Given the description of an element on the screen output the (x, y) to click on. 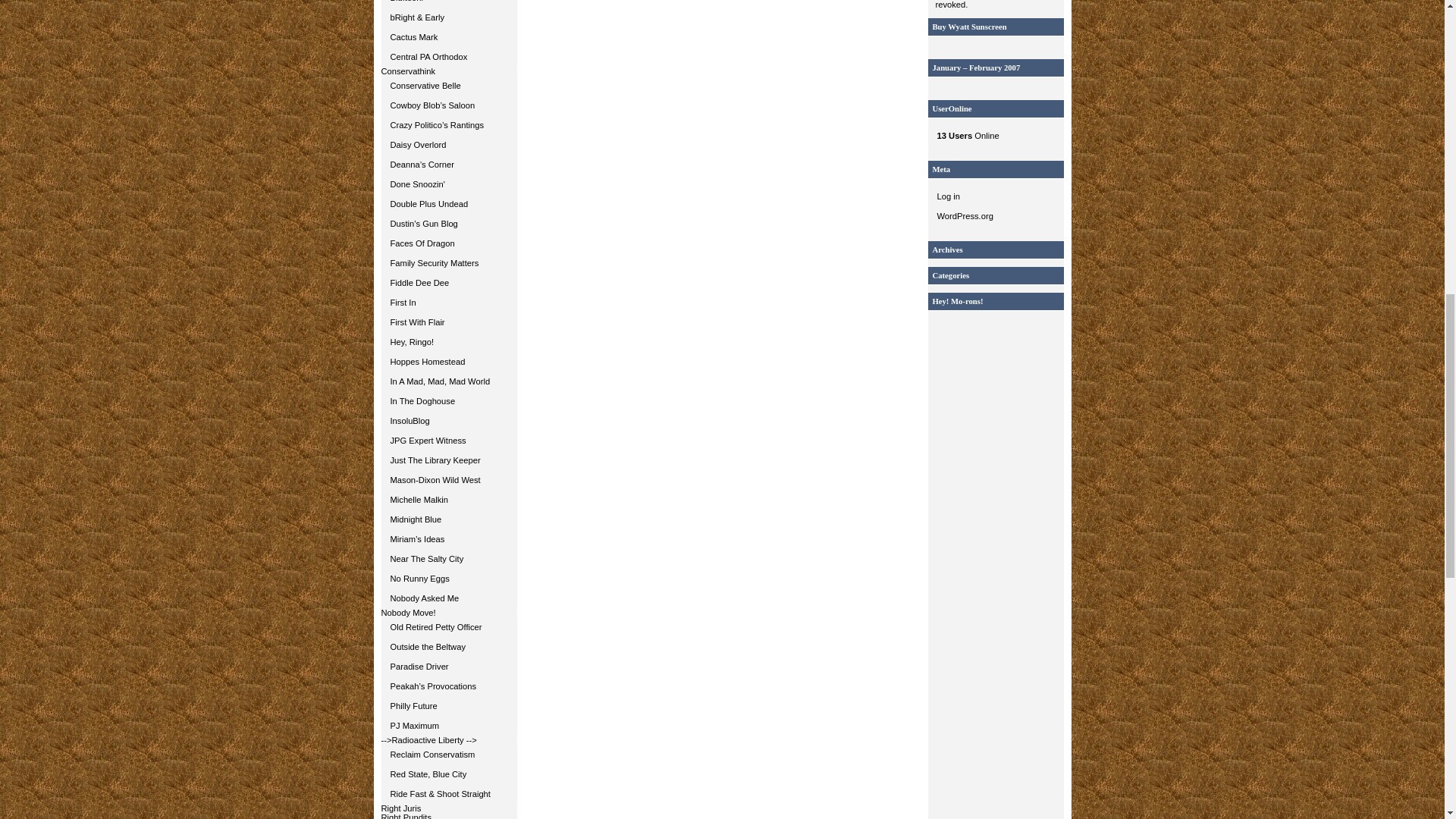
Bluftooni (448, 3)
Central PA Orthodox (448, 56)
Cactus Mark (448, 36)
Family Security Matters (448, 262)
Done Snoozin' (448, 184)
Fiddle Dee Dee (448, 282)
Daisy Overlord (448, 144)
Double Plus Undead (448, 203)
Faces Of Dragon (448, 243)
Conservative Belle (448, 85)
